Given the description of an element on the screen output the (x, y) to click on. 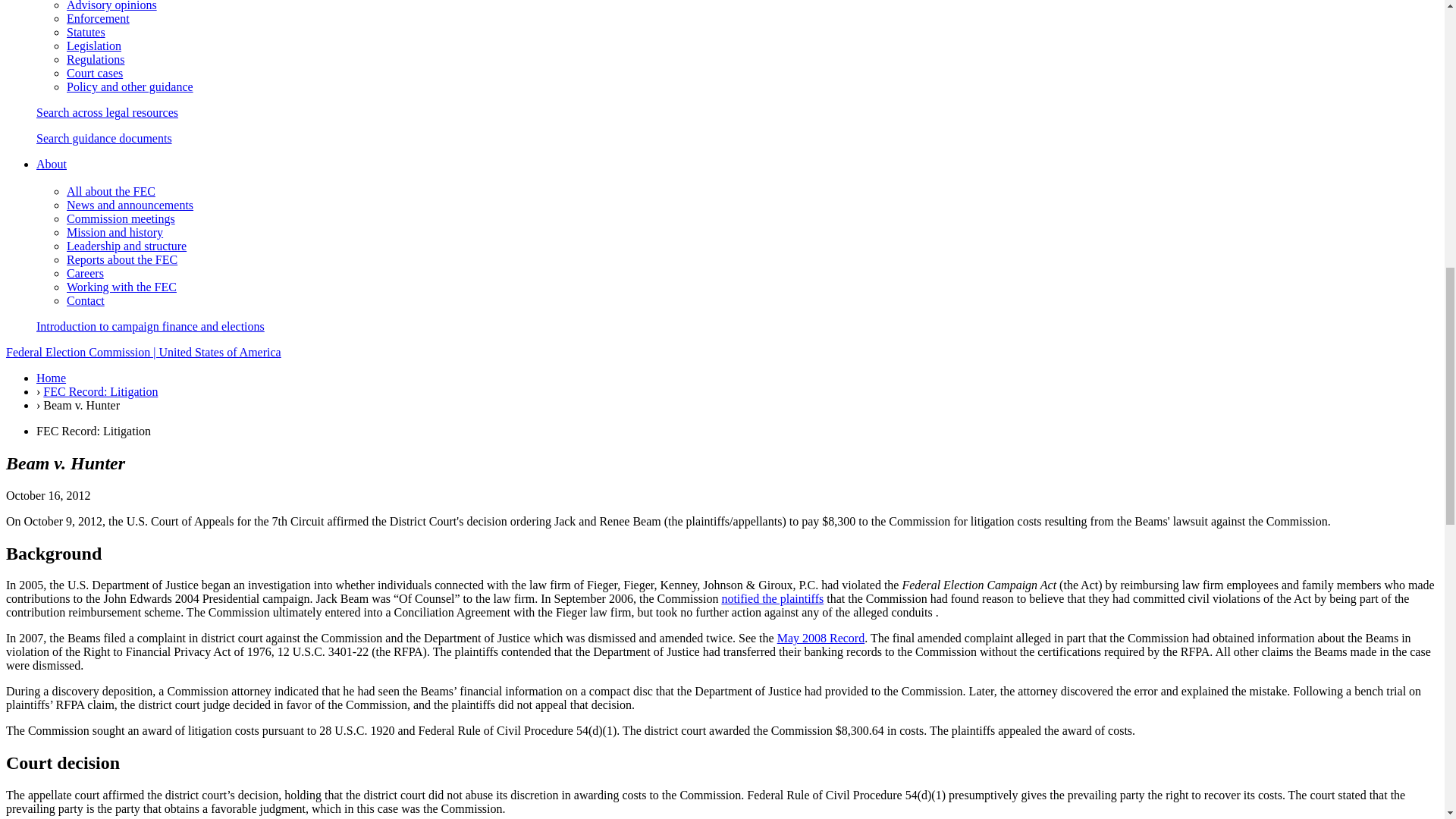
About (51, 164)
Statutes (85, 31)
Search guidance documents (103, 137)
Regulations (94, 59)
Advisory opinions (111, 5)
Legislation (93, 45)
Search across legal resources (106, 112)
Policy and other guidance (129, 86)
All about the FEC (110, 191)
Enforcement (97, 18)
Court cases (94, 72)
Home (143, 351)
